Given the description of an element on the screen output the (x, y) to click on. 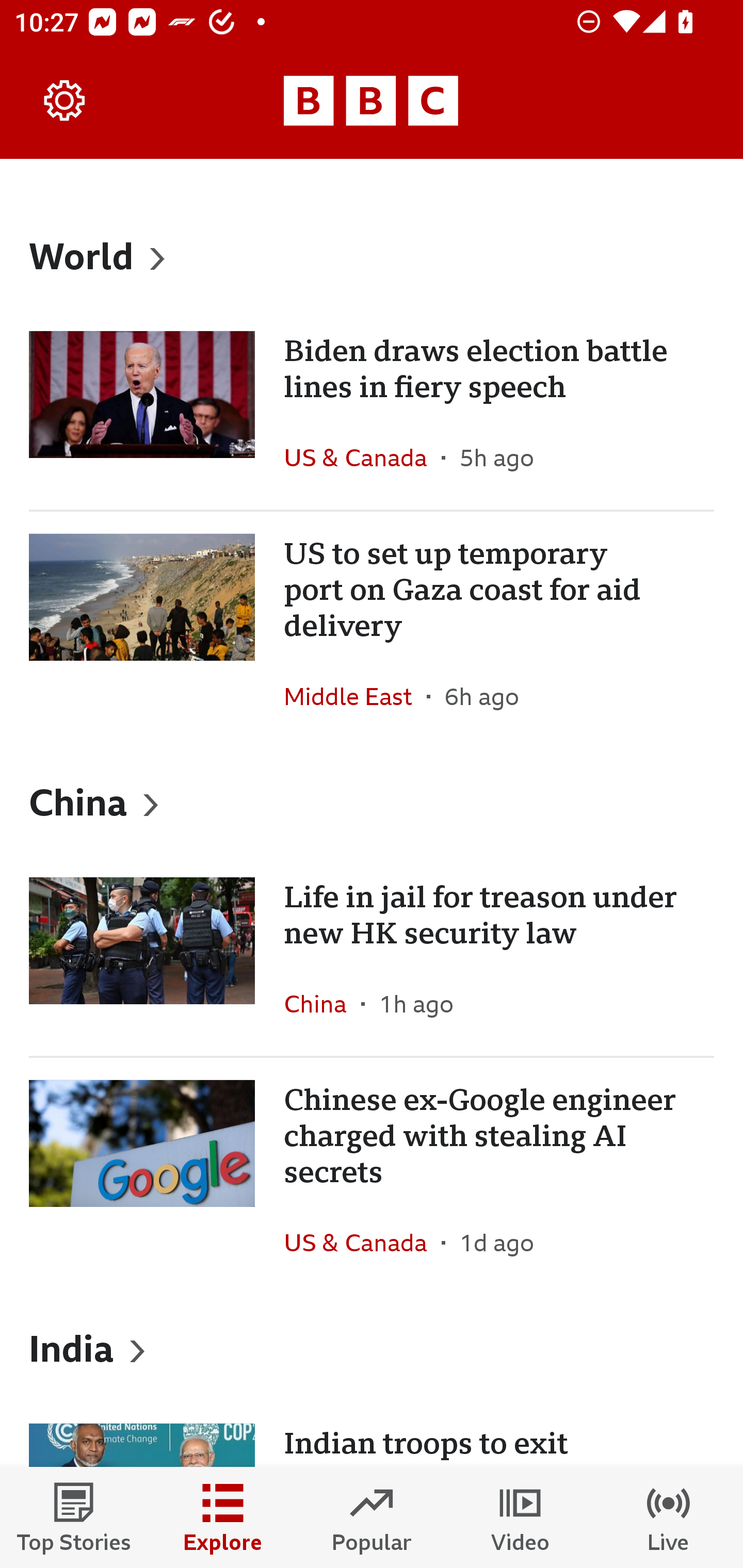
Settings (64, 100)
World, Heading World    (371, 255)
US & Canada In the section US & Canada (362, 457)
Middle East In the section Middle East (354, 695)
China, Heading China    (371, 800)
China In the section China (322, 1003)
US & Canada In the section US & Canada (362, 1242)
India, Heading India    (371, 1348)
Top Stories (74, 1517)
Popular (371, 1517)
Video (519, 1517)
Live (668, 1517)
